Given the description of an element on the screen output the (x, y) to click on. 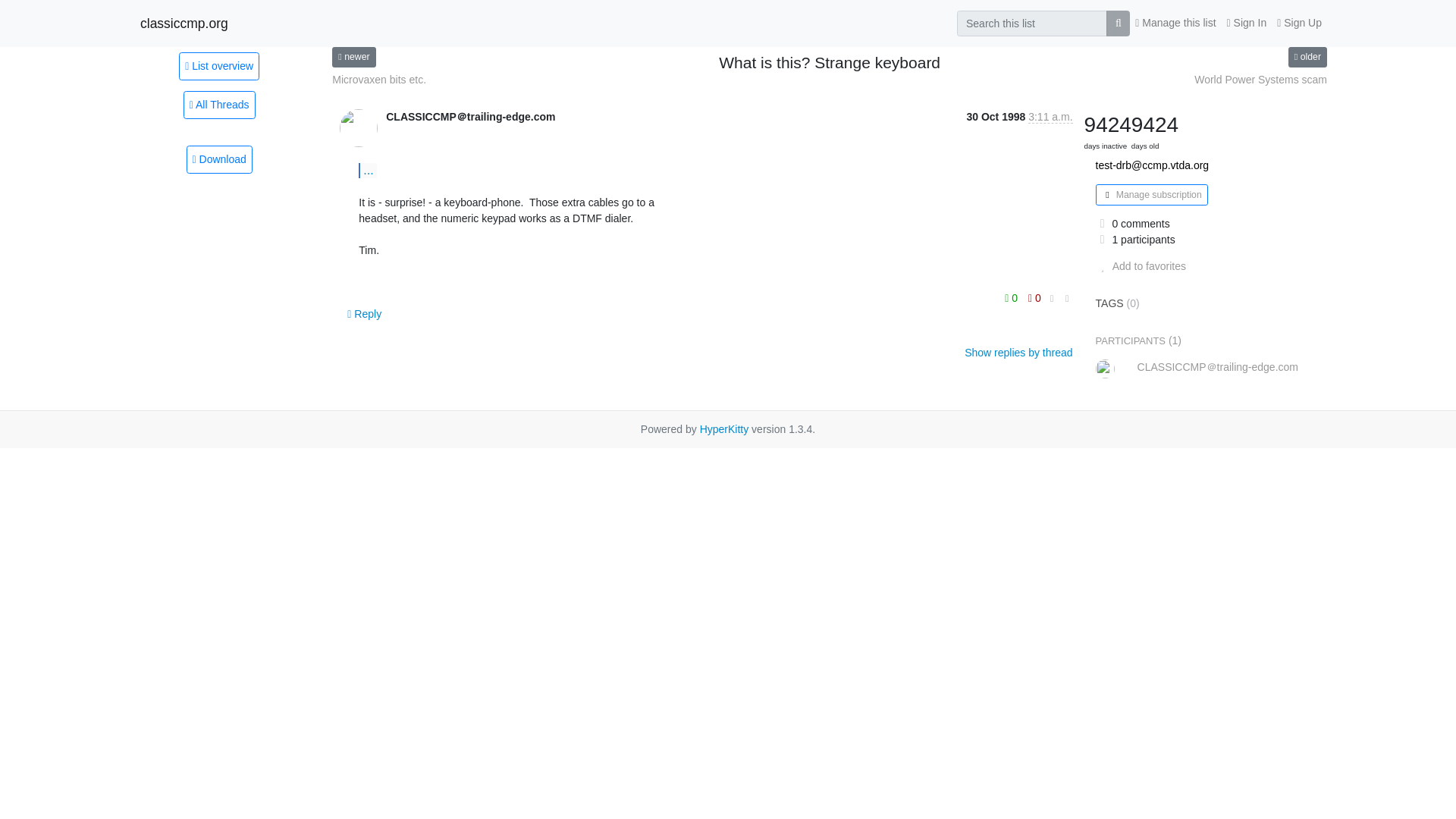
Download (218, 159)
You must be logged-in to vote. (1013, 297)
Microvaxen bits etc. (353, 56)
You must be logged-in to have favorites. (1141, 265)
All Threads (219, 104)
You must be logged-in to vote. (1035, 297)
classiccmp.org (183, 22)
List overview (219, 65)
World Power Systems scam (1259, 79)
newer (353, 56)
